Given the description of an element on the screen output the (x, y) to click on. 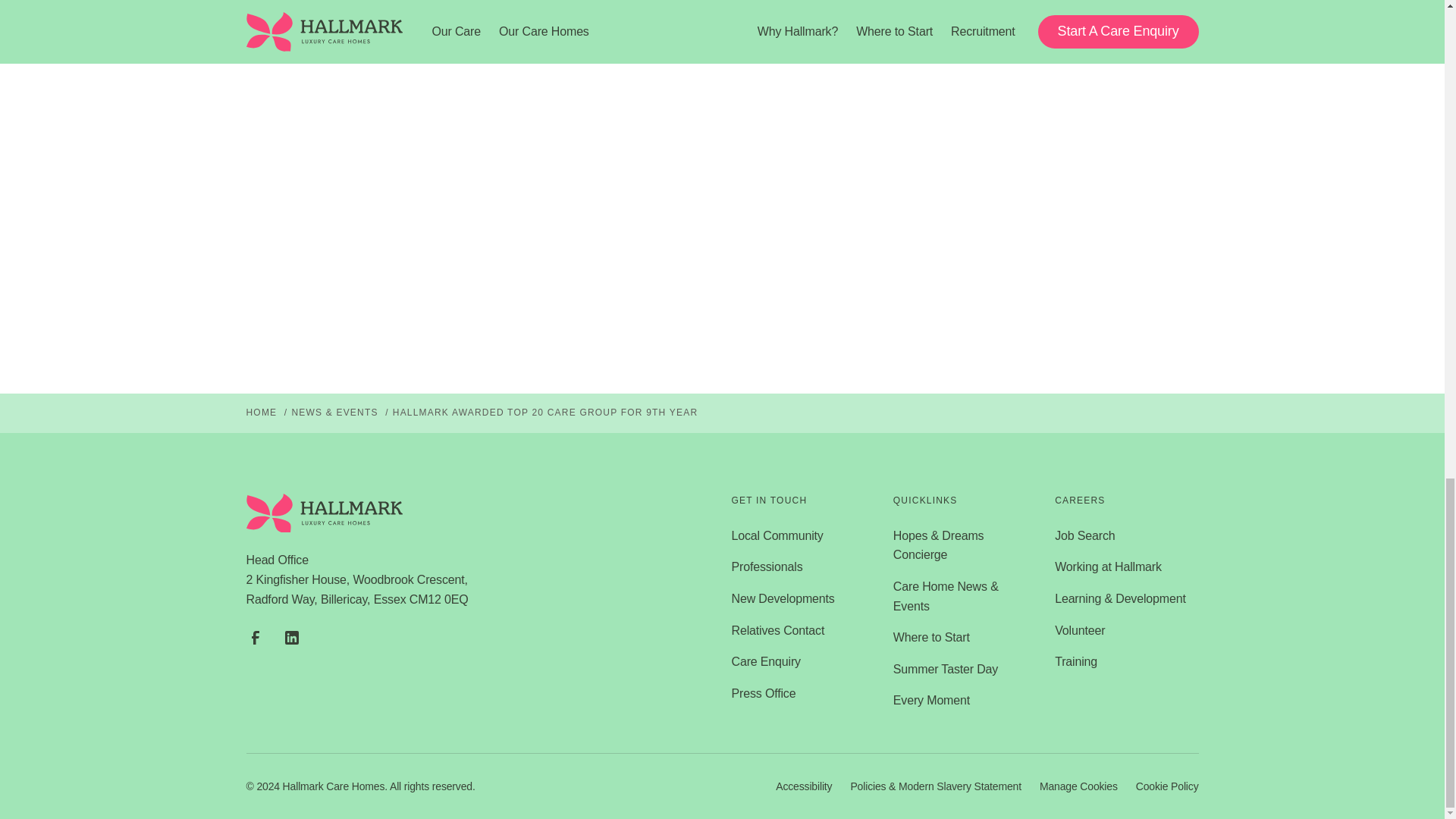
Connect on LinkedIn (290, 637)
Hallmark Home (324, 513)
Follow us on Facebook (254, 637)
